Given the description of an element on the screen output the (x, y) to click on. 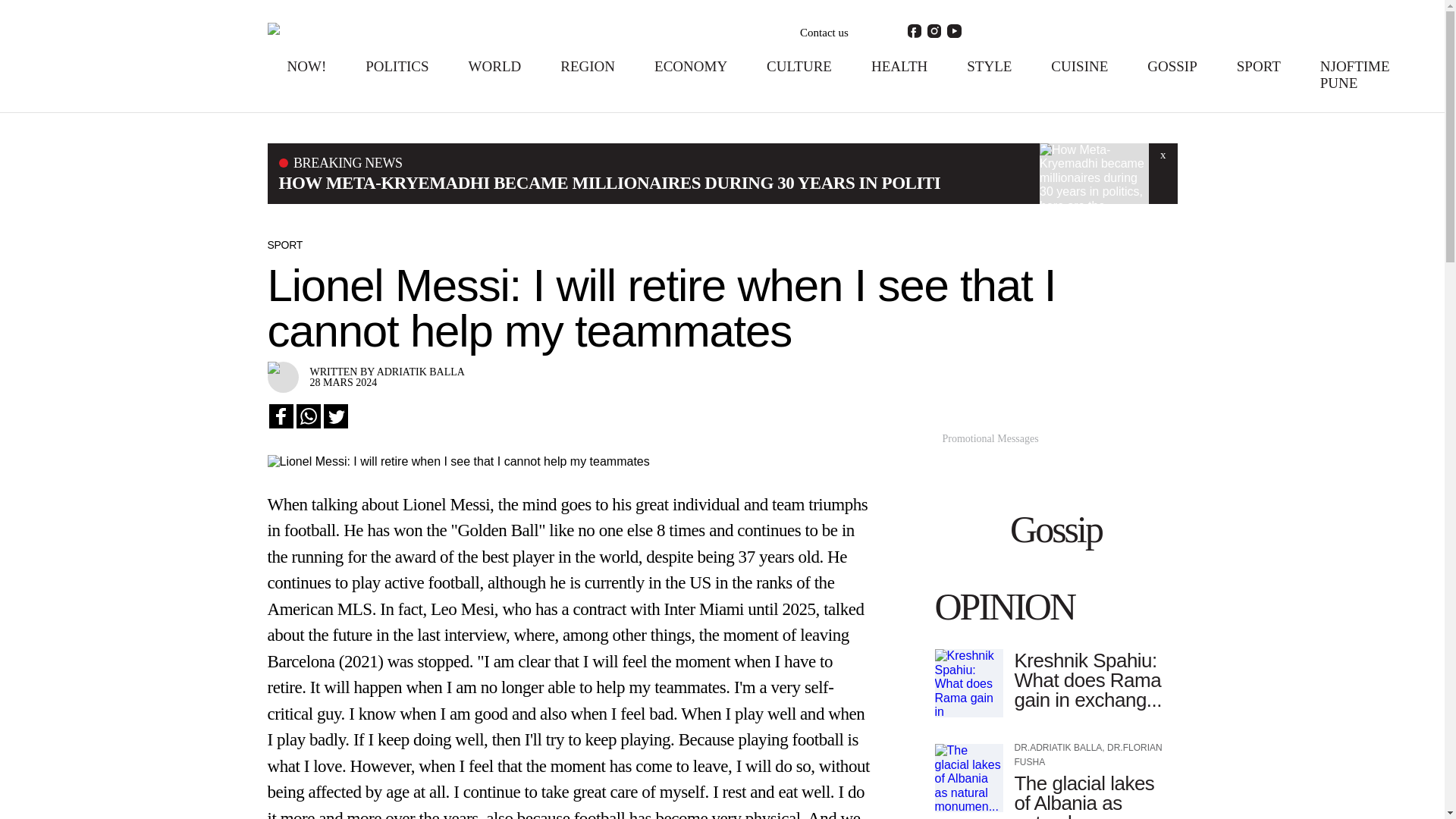
REGION (587, 66)
STYLE (988, 66)
WORLD (494, 66)
NOW! (306, 66)
POLITICS (396, 66)
Contact us (823, 32)
ECONOMY (689, 66)
NJOFTIME PUNE (1355, 74)
GOSSIP (1171, 66)
CULTURE (799, 66)
